Given the description of an element on the screen output the (x, y) to click on. 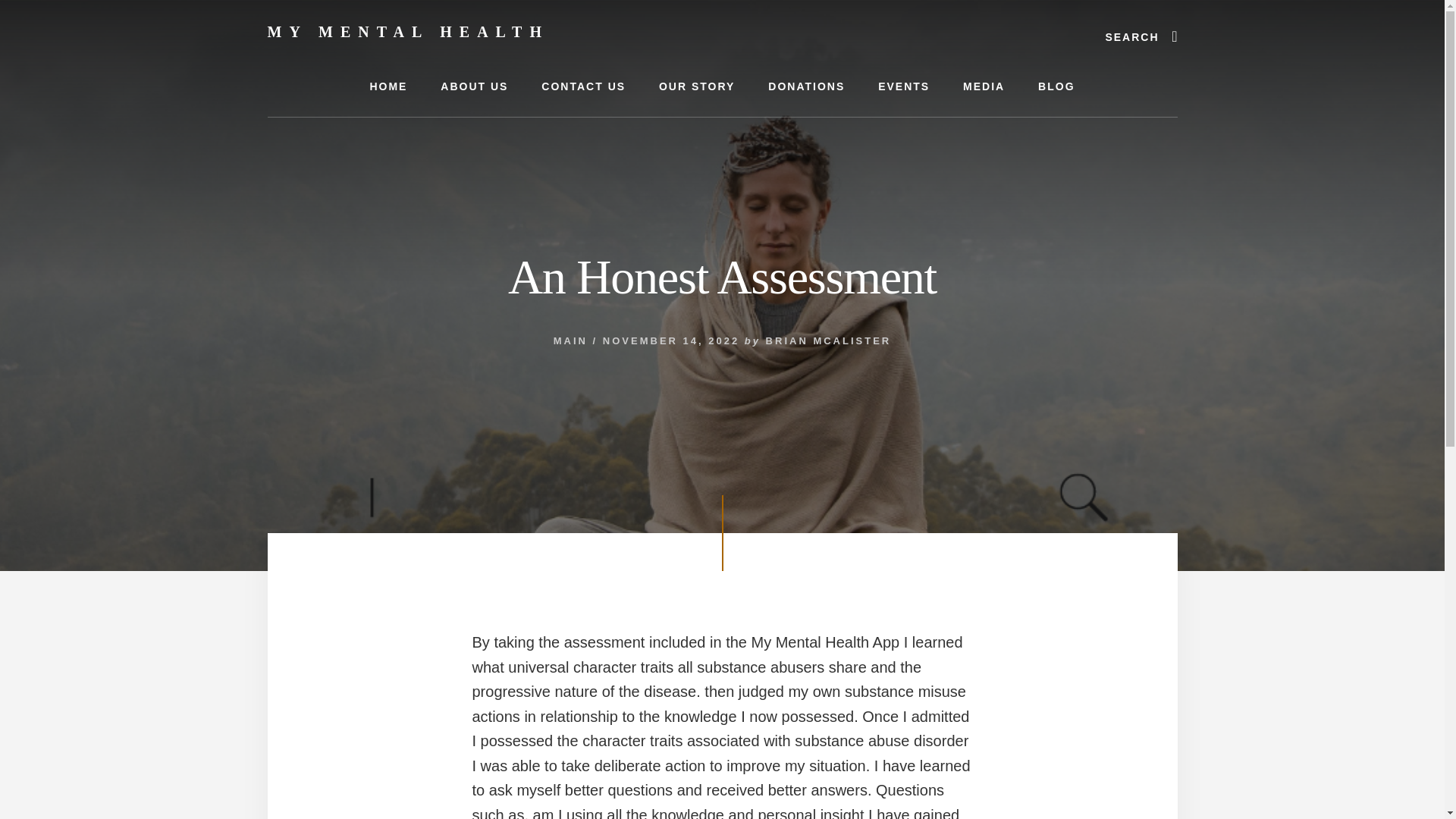
MEDIA (983, 86)
ABOUT US (473, 86)
BLOG (1056, 86)
MY MENTAL HEALTH (407, 31)
EVENTS (903, 86)
HOME (387, 86)
